Given the description of an element on the screen output the (x, y) to click on. 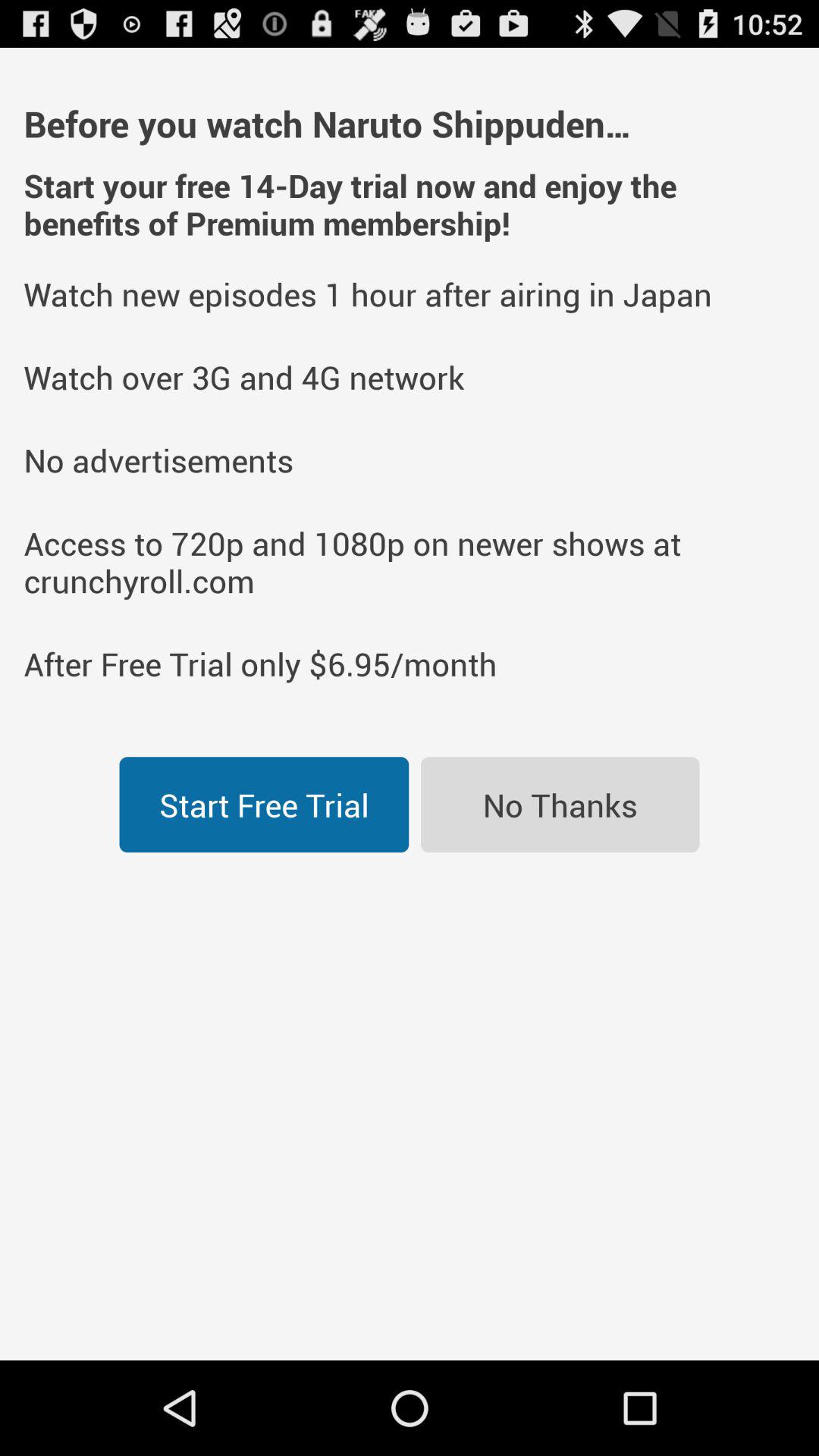
open the icon below after free trial icon (559, 804)
